Given the description of an element on the screen output the (x, y) to click on. 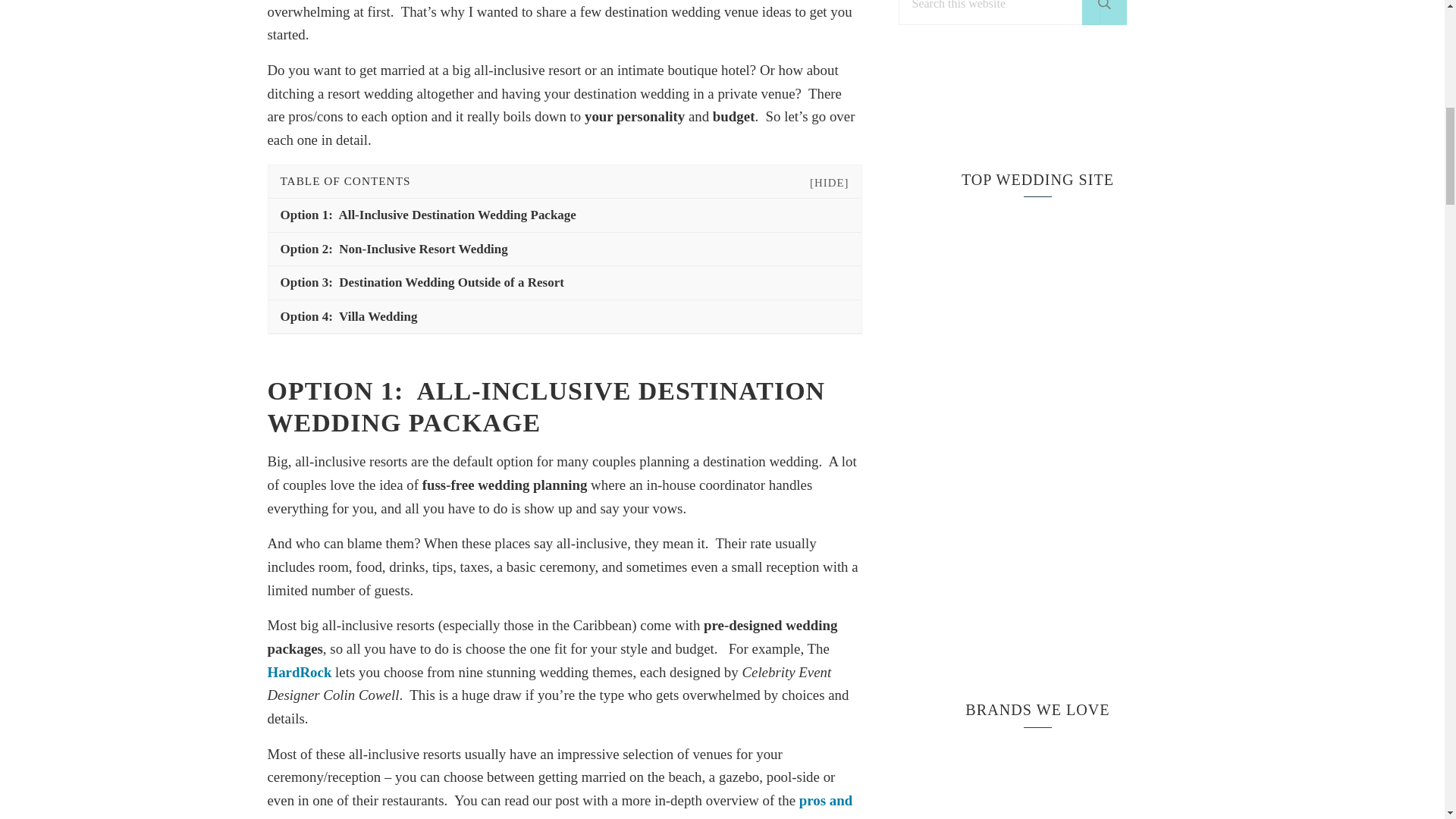
Option 2:  Non-Inclusive Resort Wedding (564, 249)
Option 4:  Villa Wedding (564, 316)
Option 1:  All-Inclusive Destination Wedding Package (564, 215)
Option 3:  Destination Wedding Outside of a Resort (564, 282)
